Given the description of an element on the screen output the (x, y) to click on. 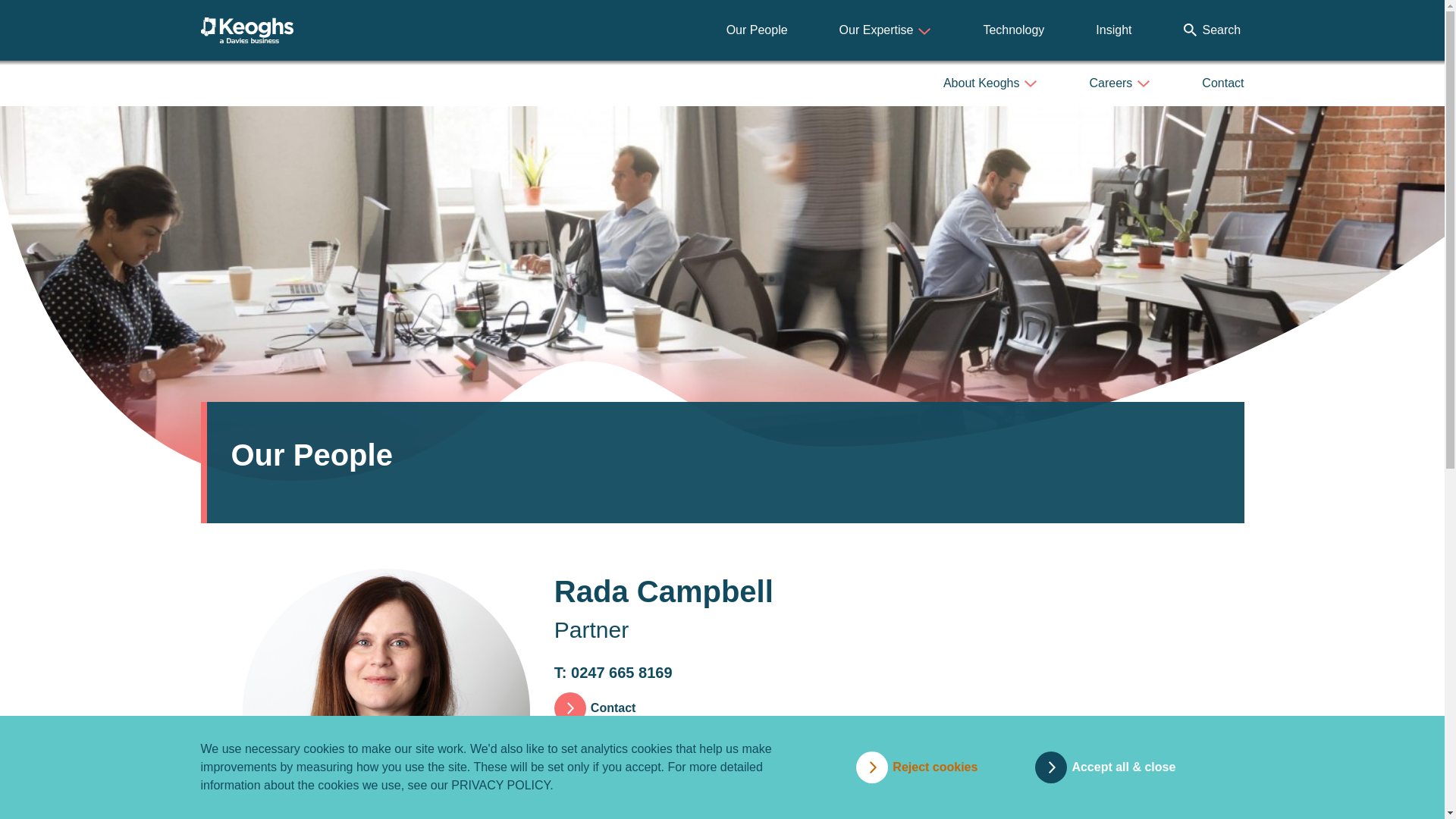
Our Expertise (885, 30)
Technology (1012, 30)
Our People (756, 30)
